Given the description of an element on the screen output the (x, y) to click on. 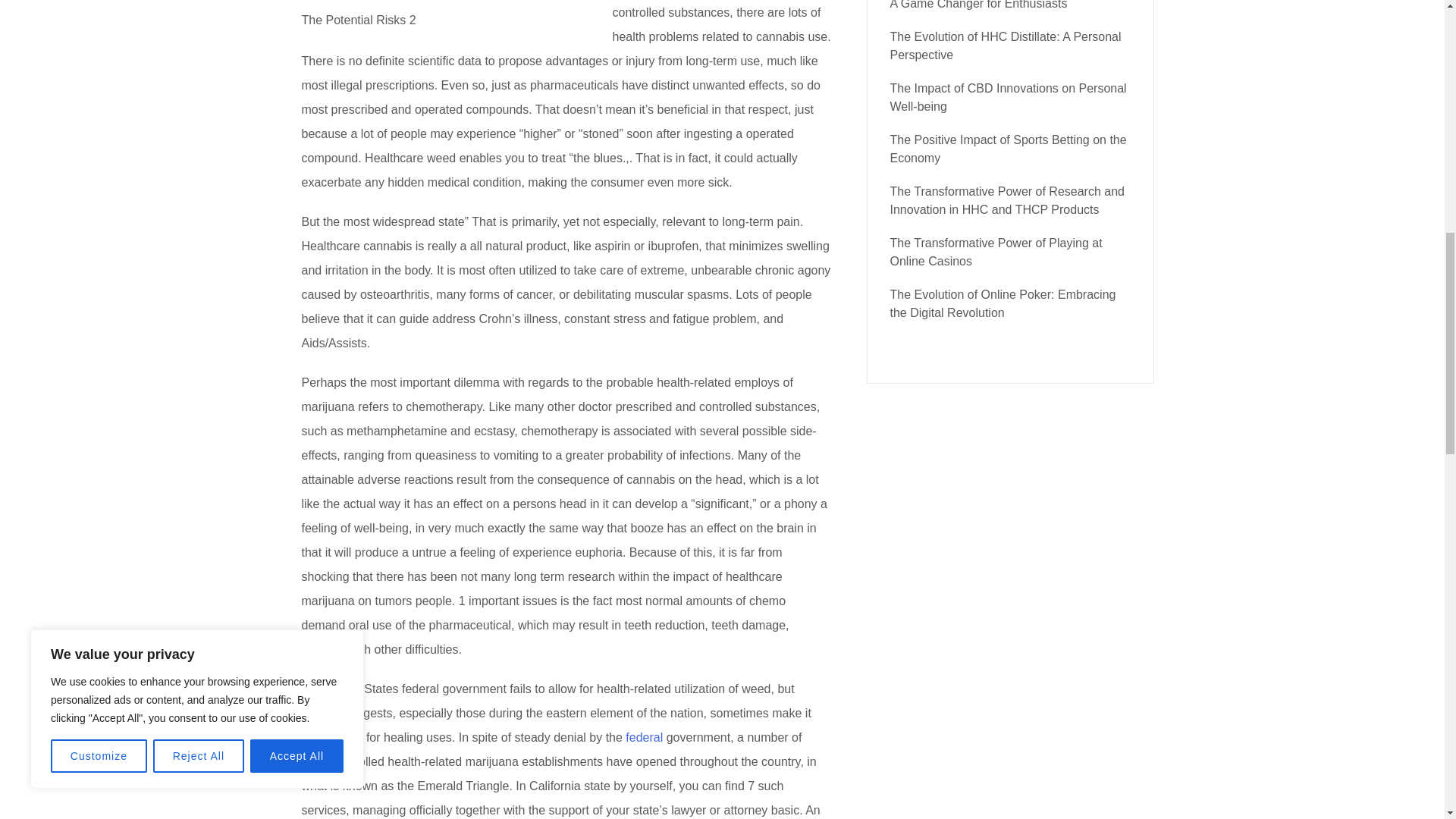
federal (644, 737)
